Given the description of an element on the screen output the (x, y) to click on. 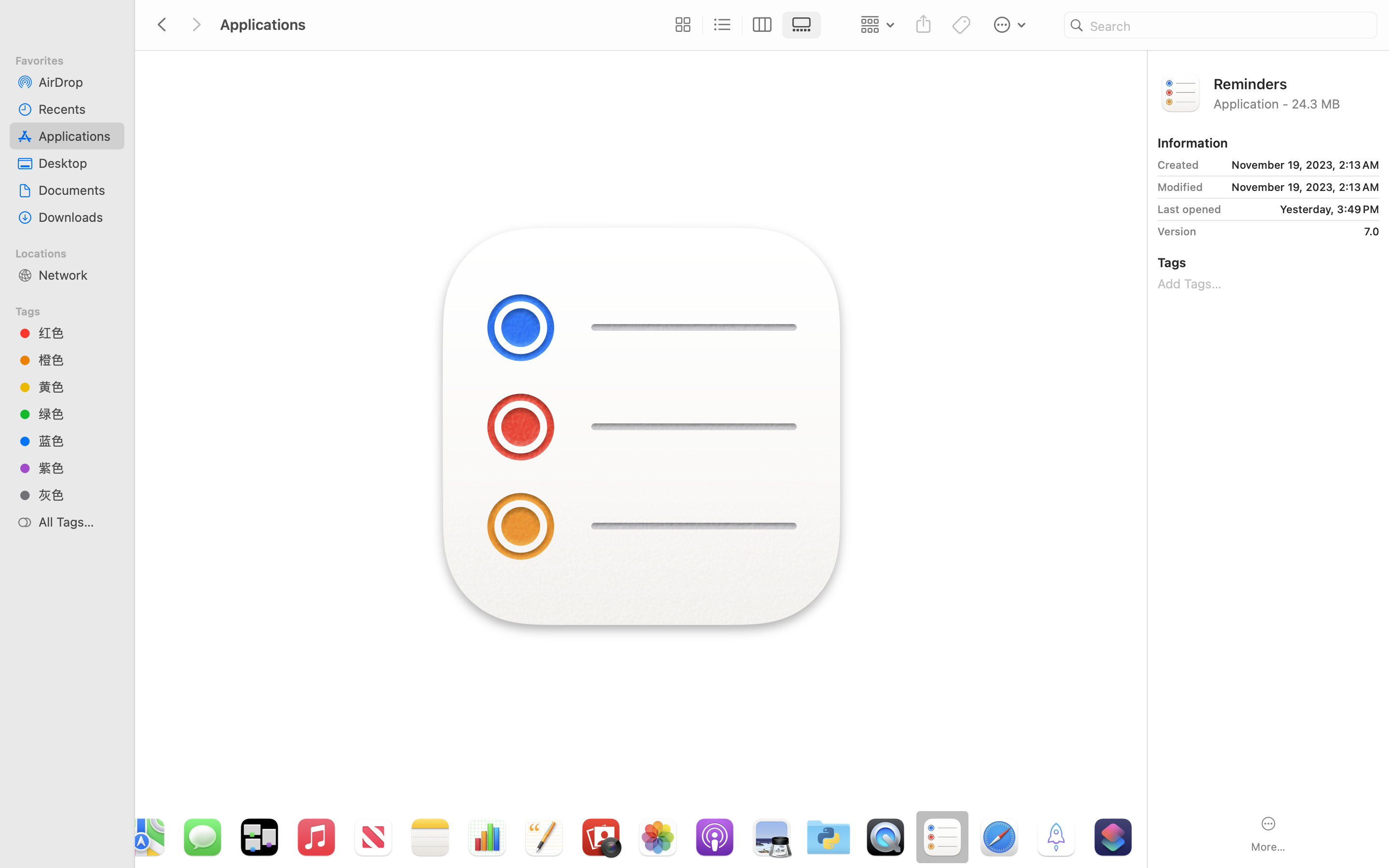
Favorites Element type: AXStaticText (72, 59)
橙色 Element type: AXStaticText (77, 359)
<AXUIElement 0x11d532d10> {pid=510} Element type: AXRadioGroup (741, 24)
AirDrop Element type: AXStaticText (77, 81)
7.0 Element type: AXStaticText (1290, 231)
